Given the description of an element on the screen output the (x, y) to click on. 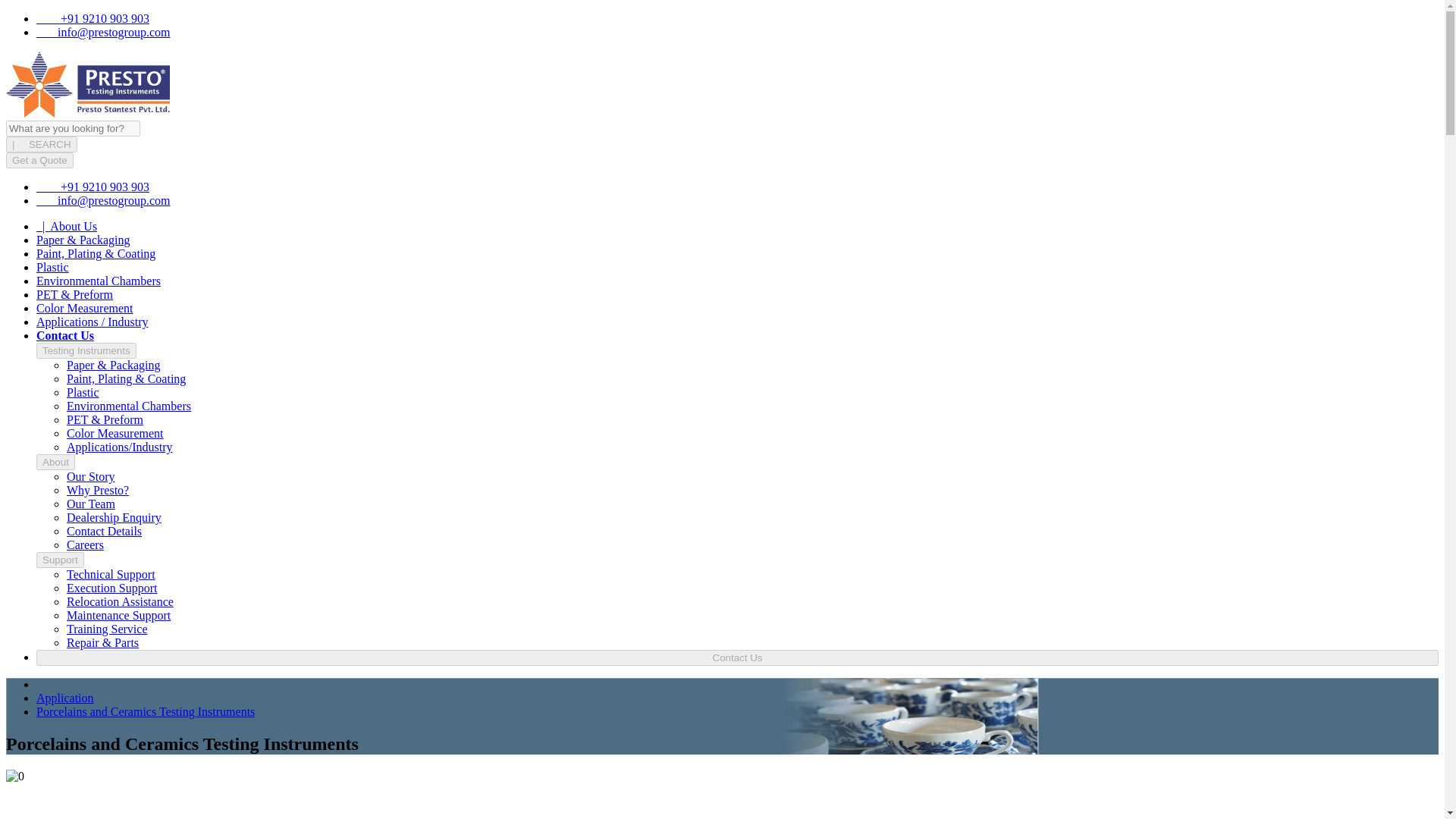
Technical Support (110, 574)
About (55, 462)
Plastic (82, 391)
Our Story (90, 476)
Why Presto? (97, 490)
Environmental Chambers (98, 280)
Environmental Chambers (128, 405)
Get a Quote (39, 160)
Plastic (52, 267)
Careers (84, 544)
Training Service (107, 628)
Our Team (90, 503)
Relocation Assistance (119, 601)
Color Measurement (84, 308)
Testing Instruments (86, 350)
